Given the description of an element on the screen output the (x, y) to click on. 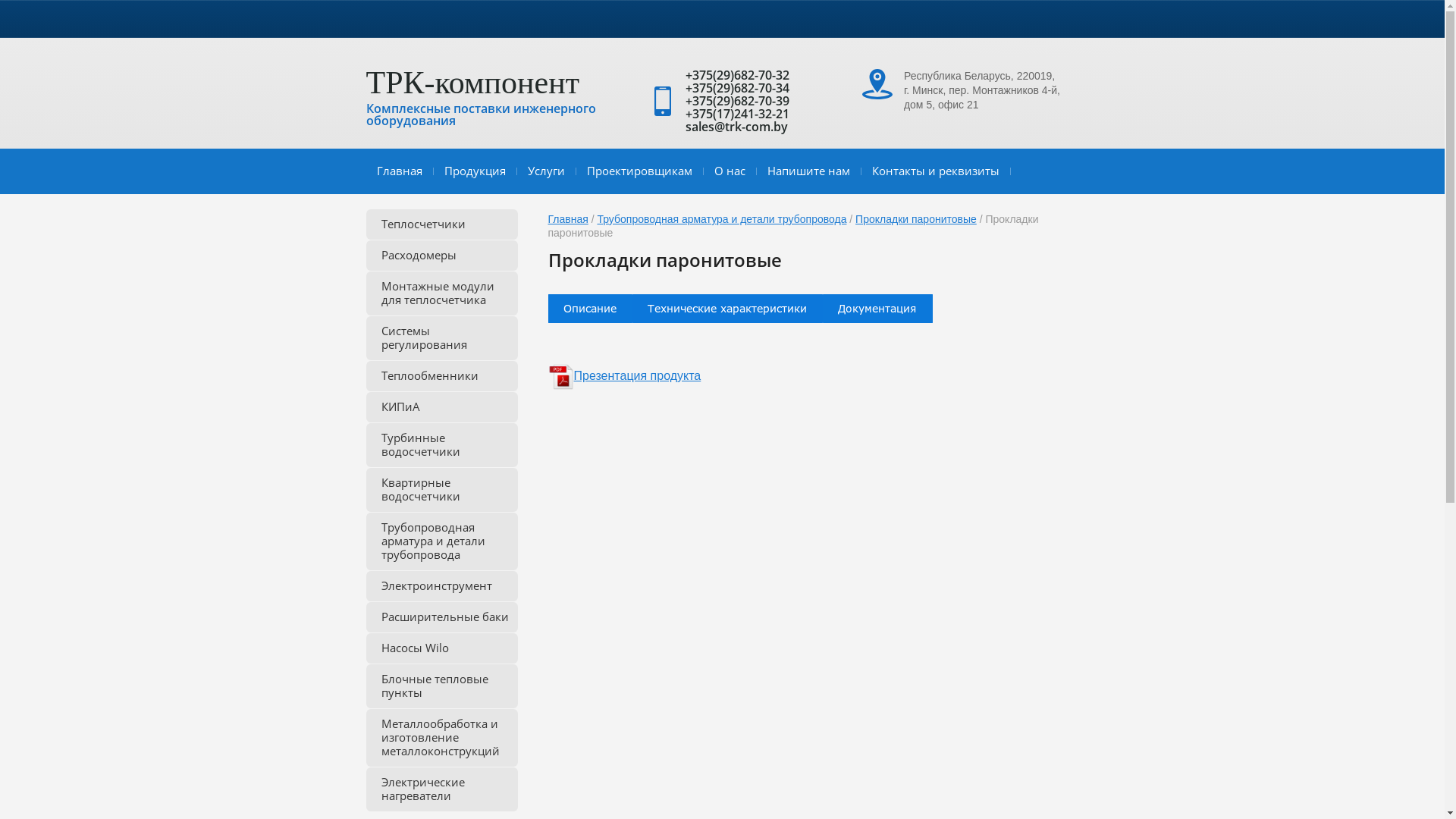
+375(17)241-32-21 Element type: text (737, 113)
sales@trk-com.by Element type: text (736, 126)
+375(29)682-70-39 Element type: text (737, 100)
+375(29)682-70-34 Element type: text (737, 87)
+375(29)682-70-32 Element type: text (737, 74)
